Given the description of an element on the screen output the (x, y) to click on. 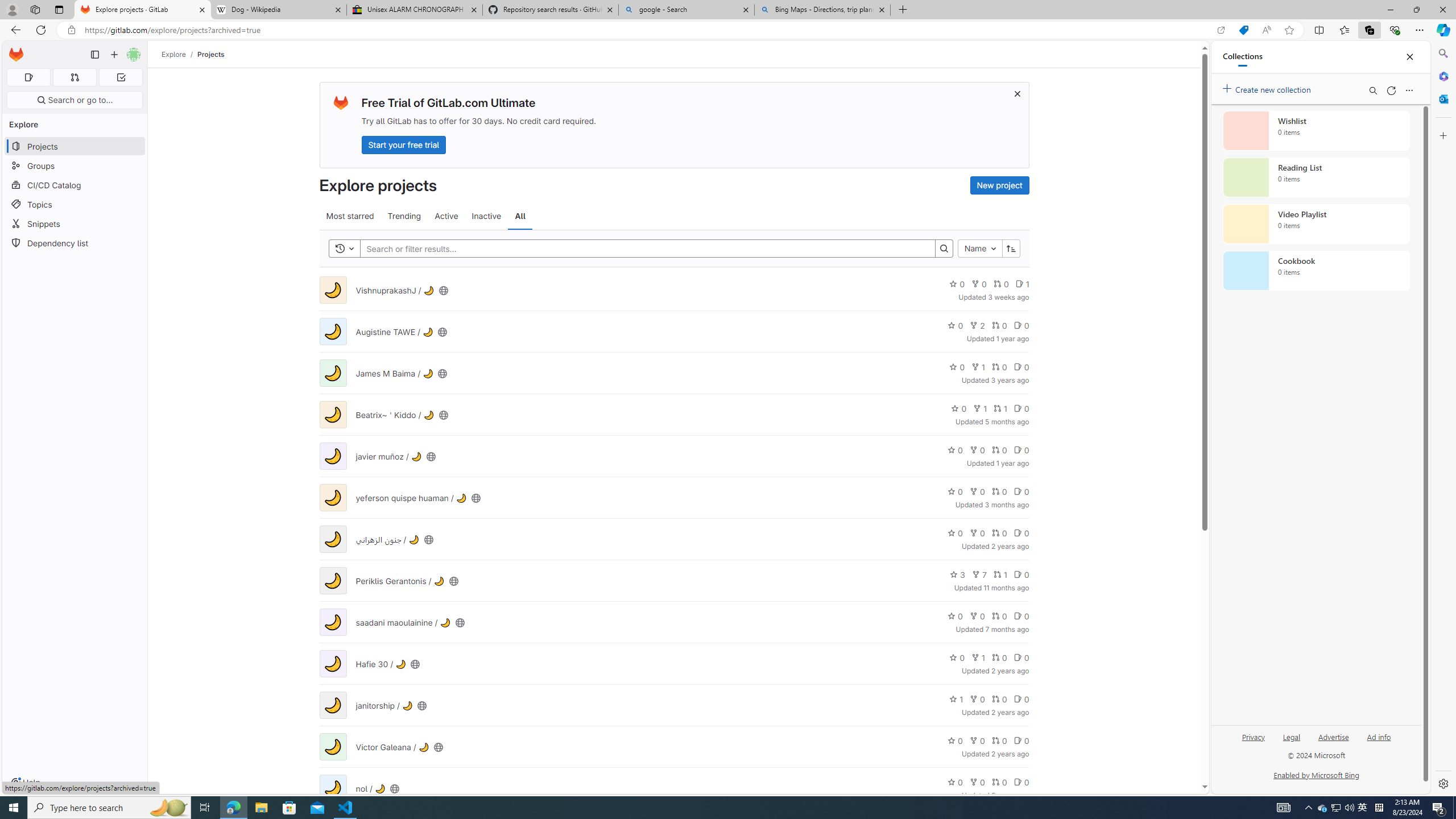
CI/CD Catalog (74, 185)
Merge requests 0 (74, 76)
Class: s14 gl-mr-2 (1017, 782)
Active (446, 216)
3 (957, 574)
Reading List collection, 0 items (1316, 177)
